Given the description of an element on the screen output the (x, y) to click on. 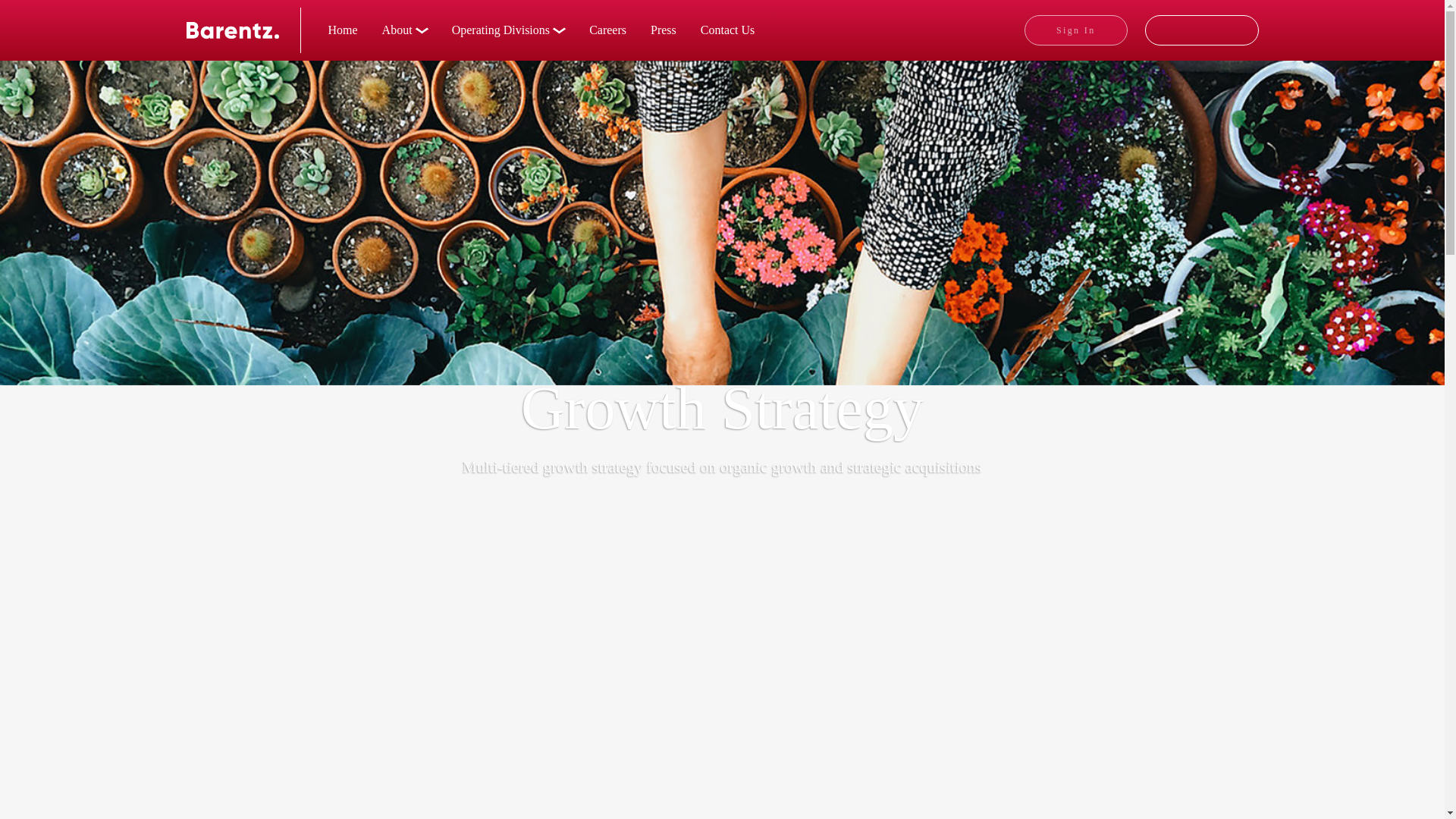
Press (663, 30)
About (404, 30)
Contact Us (727, 30)
Sign In (1075, 30)
Careers (607, 30)
Operating Divisions (507, 30)
Home (342, 30)
